Given the description of an element on the screen output the (x, y) to click on. 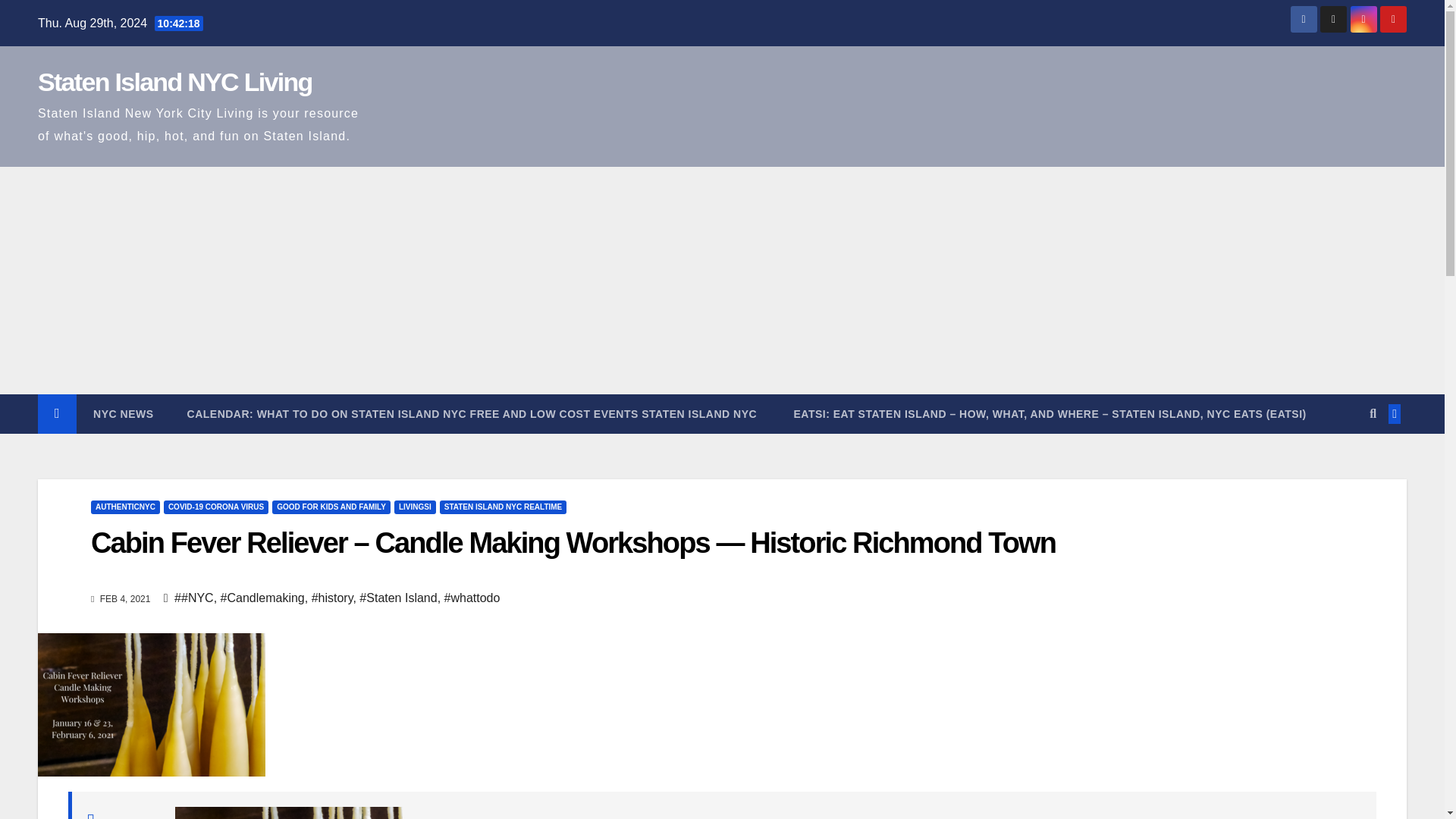
LIVINGSI (414, 507)
STATEN ISLAND NYC REALTIME (503, 507)
COVID-19 CORONA VIRUS (215, 507)
AUTHENTICNYC (125, 507)
GOOD FOR KIDS AND FAMILY (331, 507)
NYC NEWS (123, 413)
Staten Island NYC Living (175, 81)
NYC NEWS (123, 413)
